Given the description of an element on the screen output the (x, y) to click on. 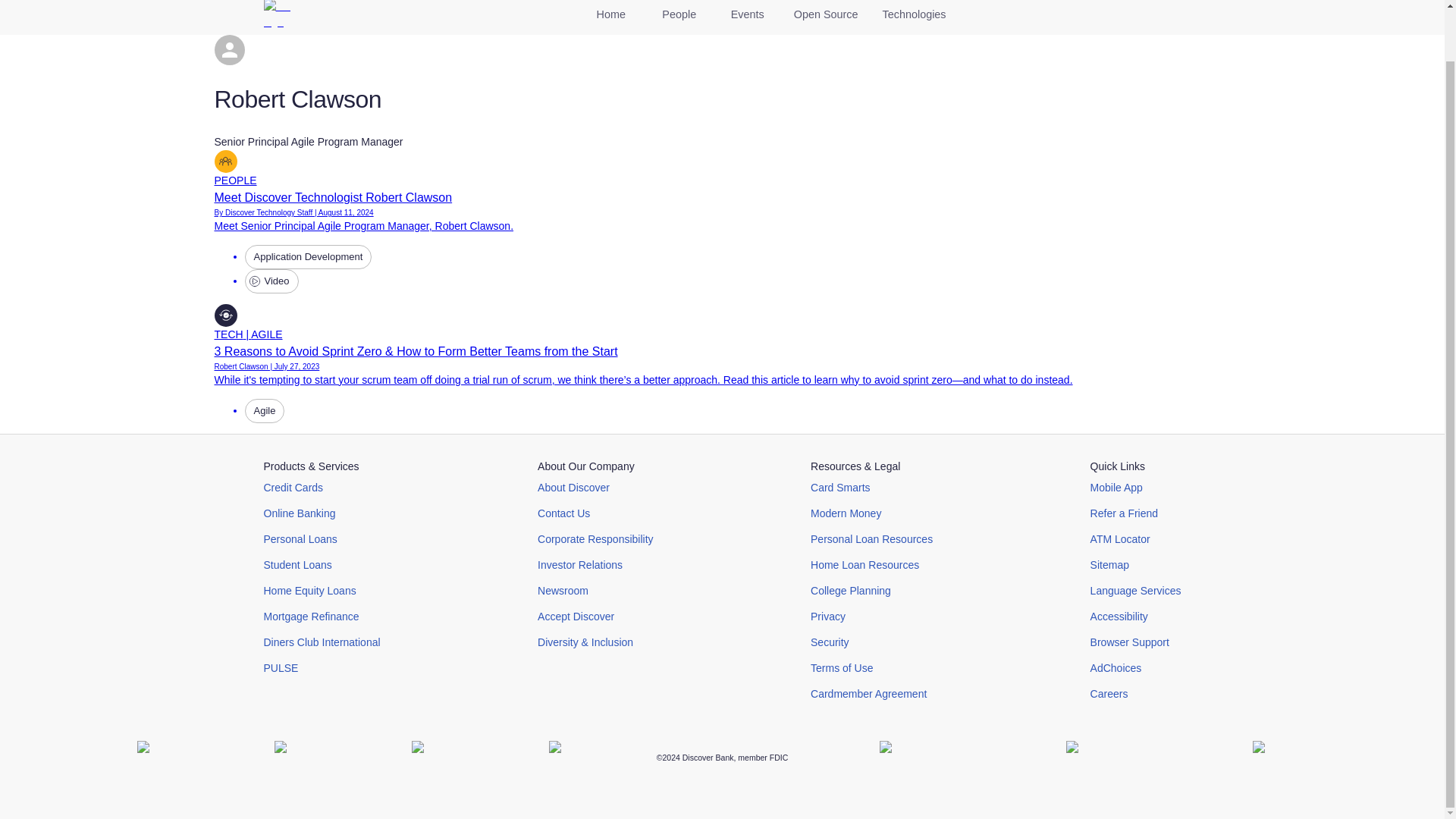
Personal Loans (321, 539)
Like Us on Facebook (153, 758)
Open Source (825, 17)
Online Banking (321, 513)
Corporate Responsibility (595, 539)
About Discover (595, 487)
Mortgage Refinance (321, 616)
Newsroom (595, 590)
Credit Cards (321, 487)
Diners Club International (321, 642)
